Given the description of an element on the screen output the (x, y) to click on. 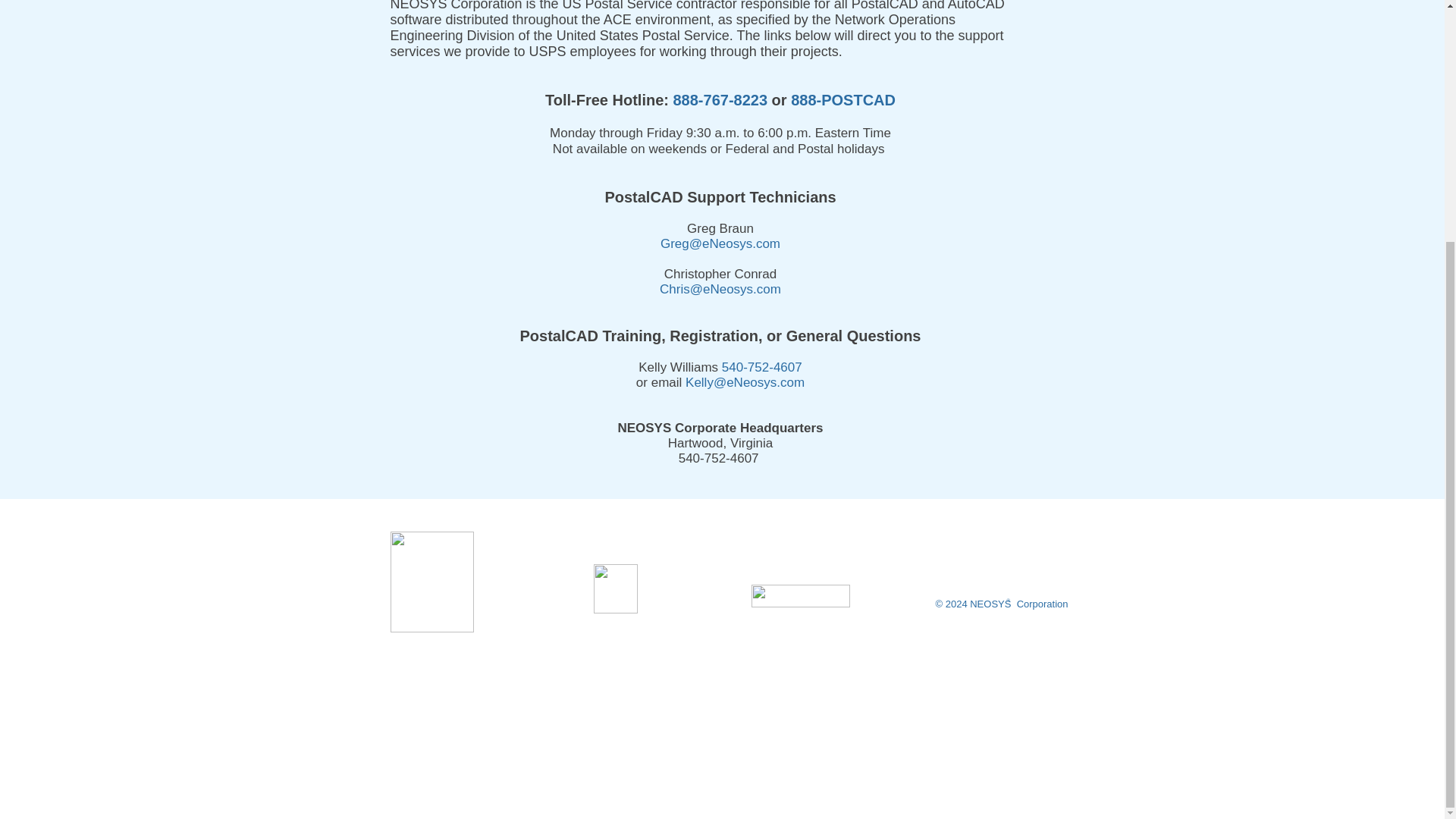
540-752-4607 (762, 367)
28 YEARS Partnering with Autodesk - for Website v02.jpg (614, 588)
888-767-8223 (720, 99)
888-POSTCAD (842, 99)
